Given the description of an element on the screen output the (x, y) to click on. 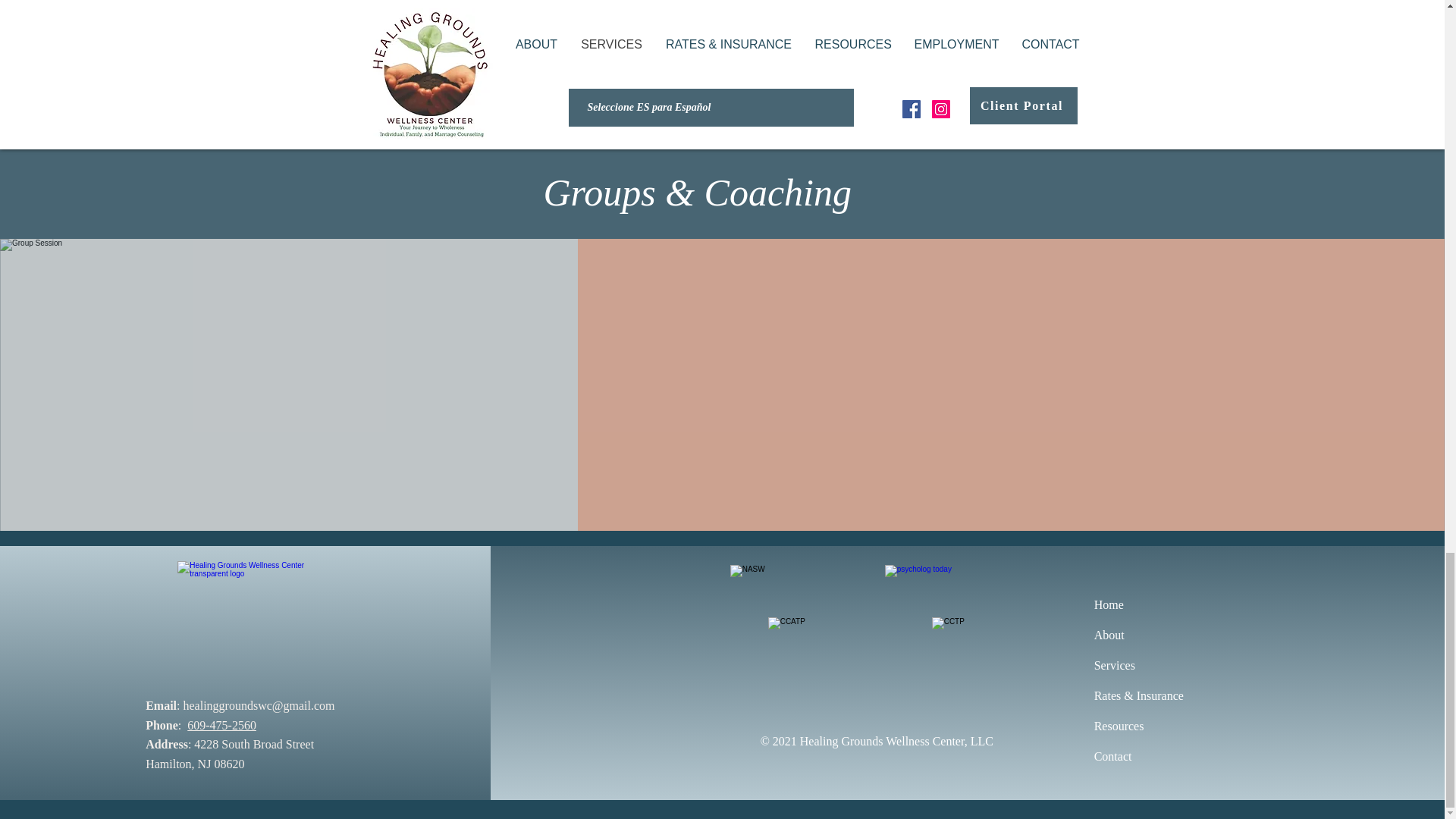
Resources (1119, 725)
About (1109, 634)
Home (1109, 604)
Services (1114, 665)
609-475-2560 (221, 725)
Contact (1113, 756)
Read More (602, 18)
